Given the description of an element on the screen output the (x, y) to click on. 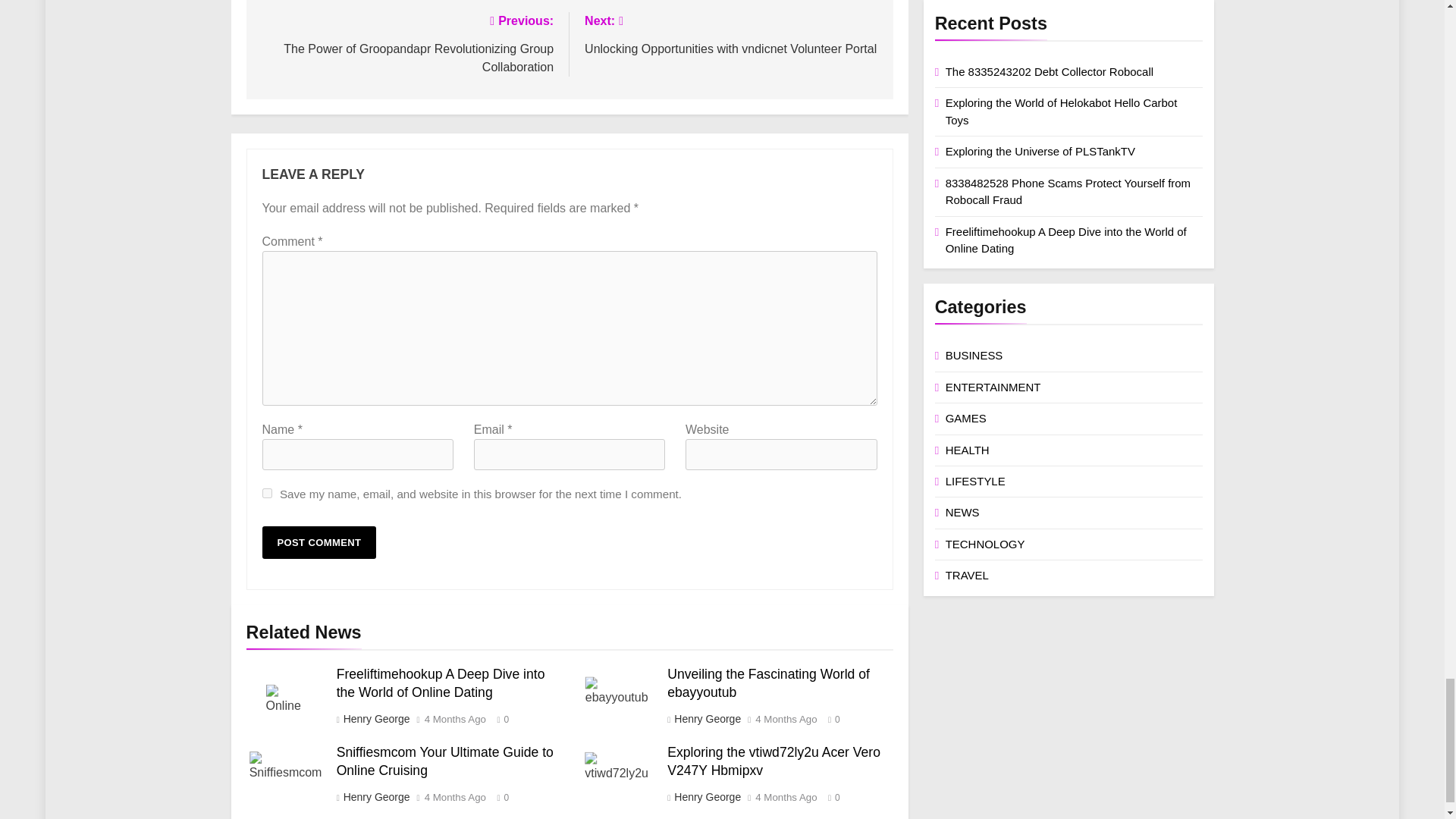
Post Comment (319, 542)
yes (267, 492)
